Given the description of an element on the screen output the (x, y) to click on. 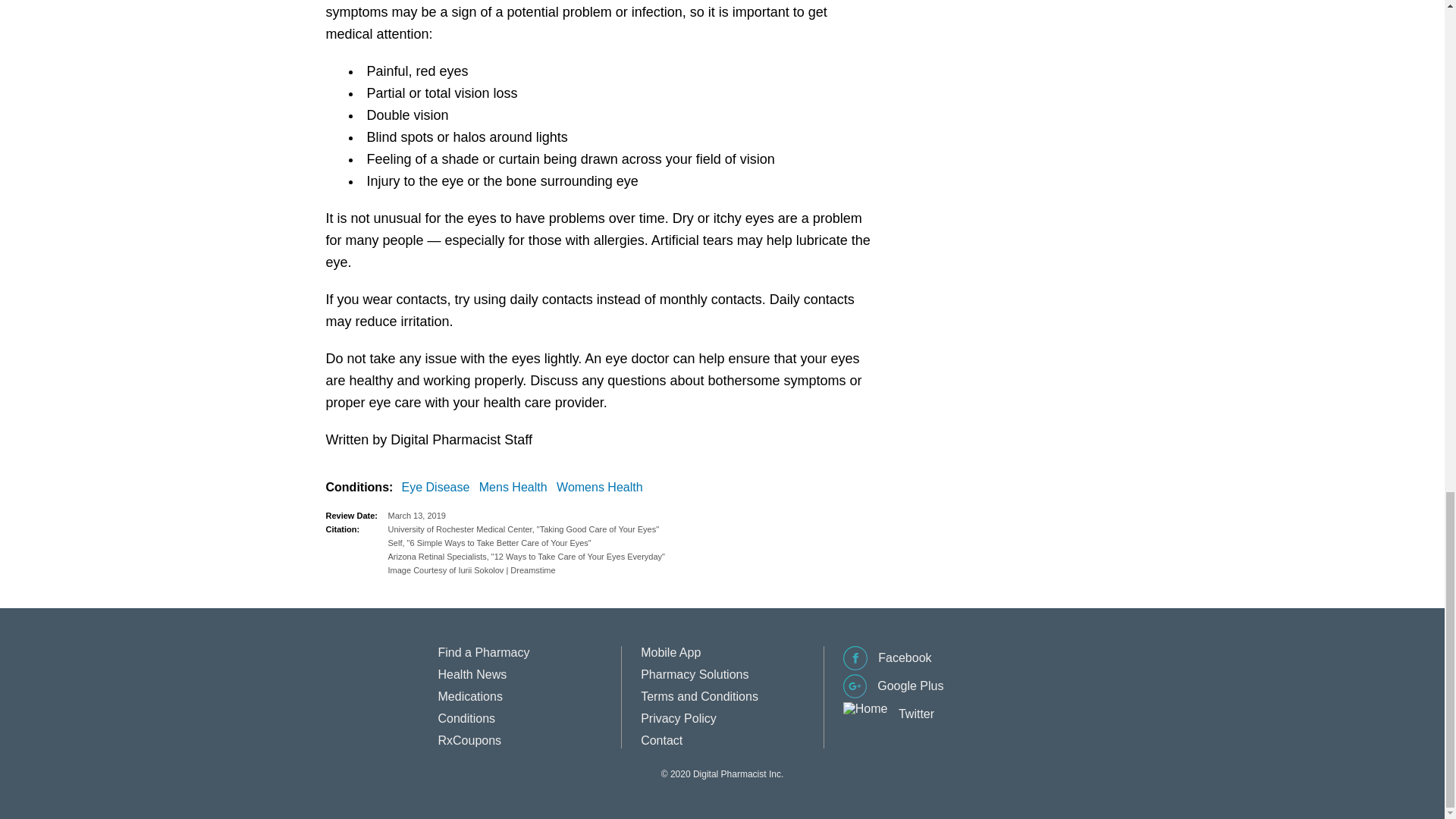
Self, "6 Simple Ways to Take Better Care of Your Eyes" (630, 542)
Womens Health (602, 487)
Mens Health (516, 487)
Eye Disease (438, 487)
